Given the description of an element on the screen output the (x, y) to click on. 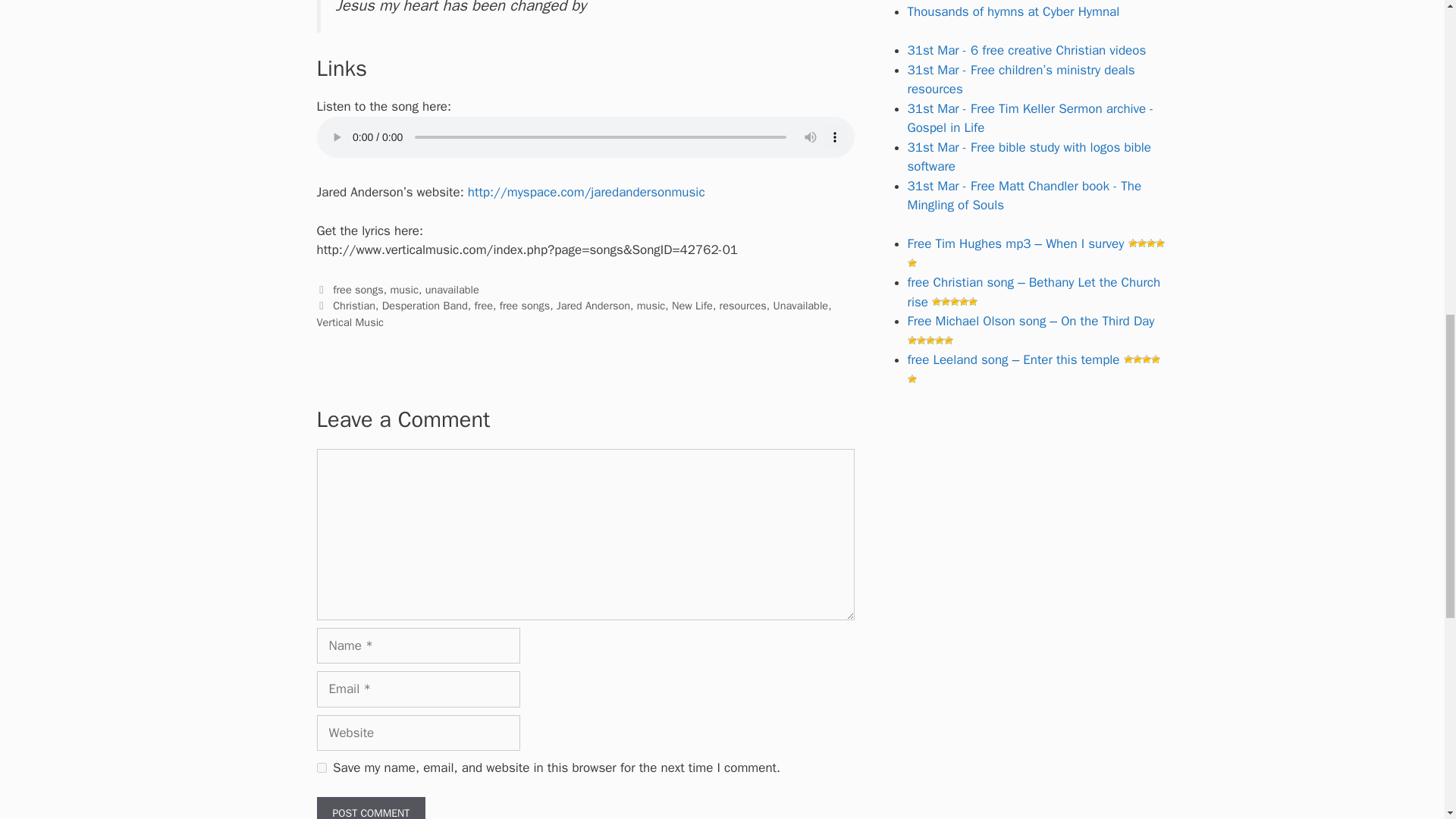
free songs (358, 289)
yes (321, 767)
Post Comment (371, 807)
